Given the description of an element on the screen output the (x, y) to click on. 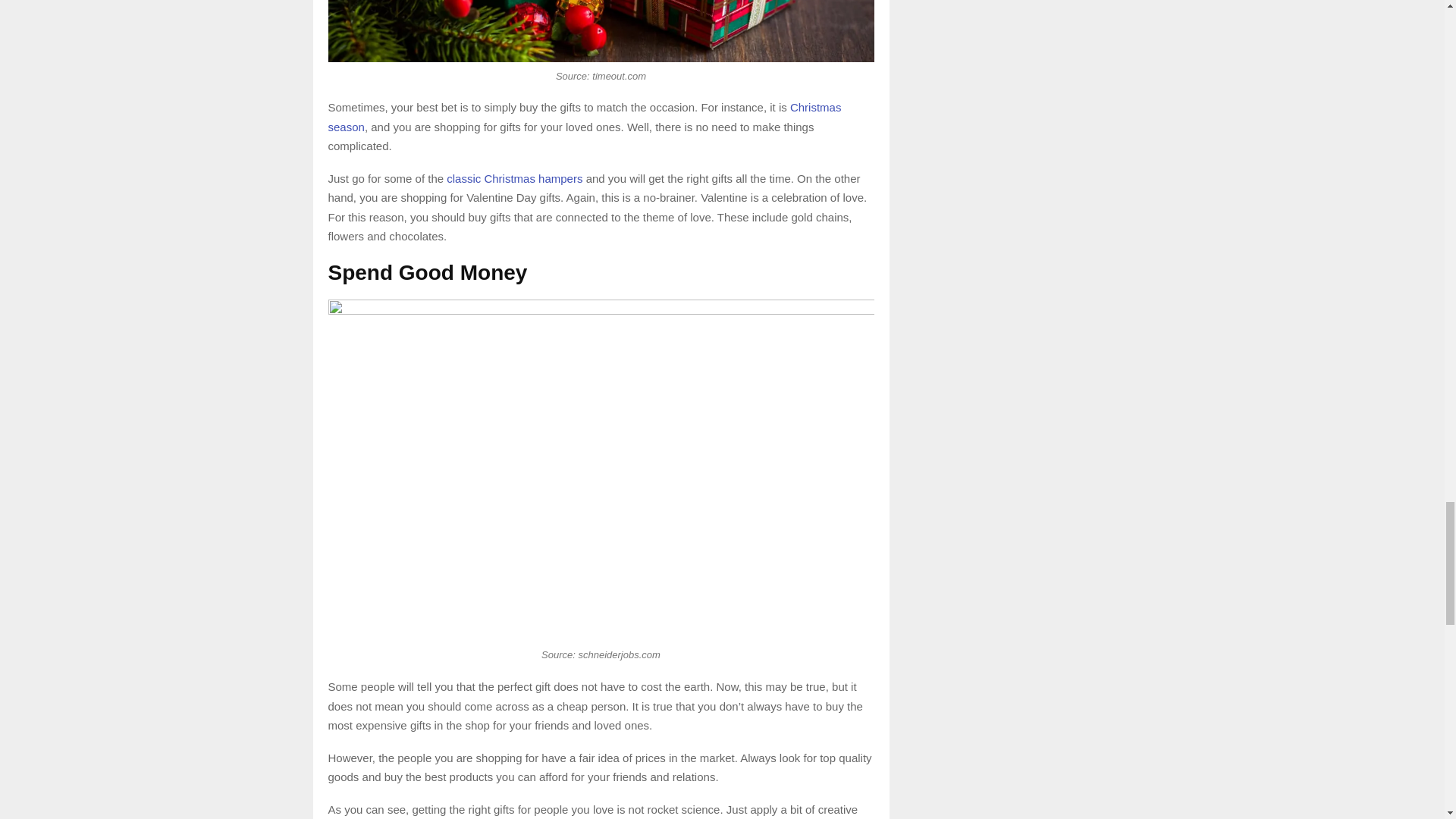
classic Christmas hampers (514, 178)
Christmas season (584, 116)
